Given the description of an element on the screen output the (x, y) to click on. 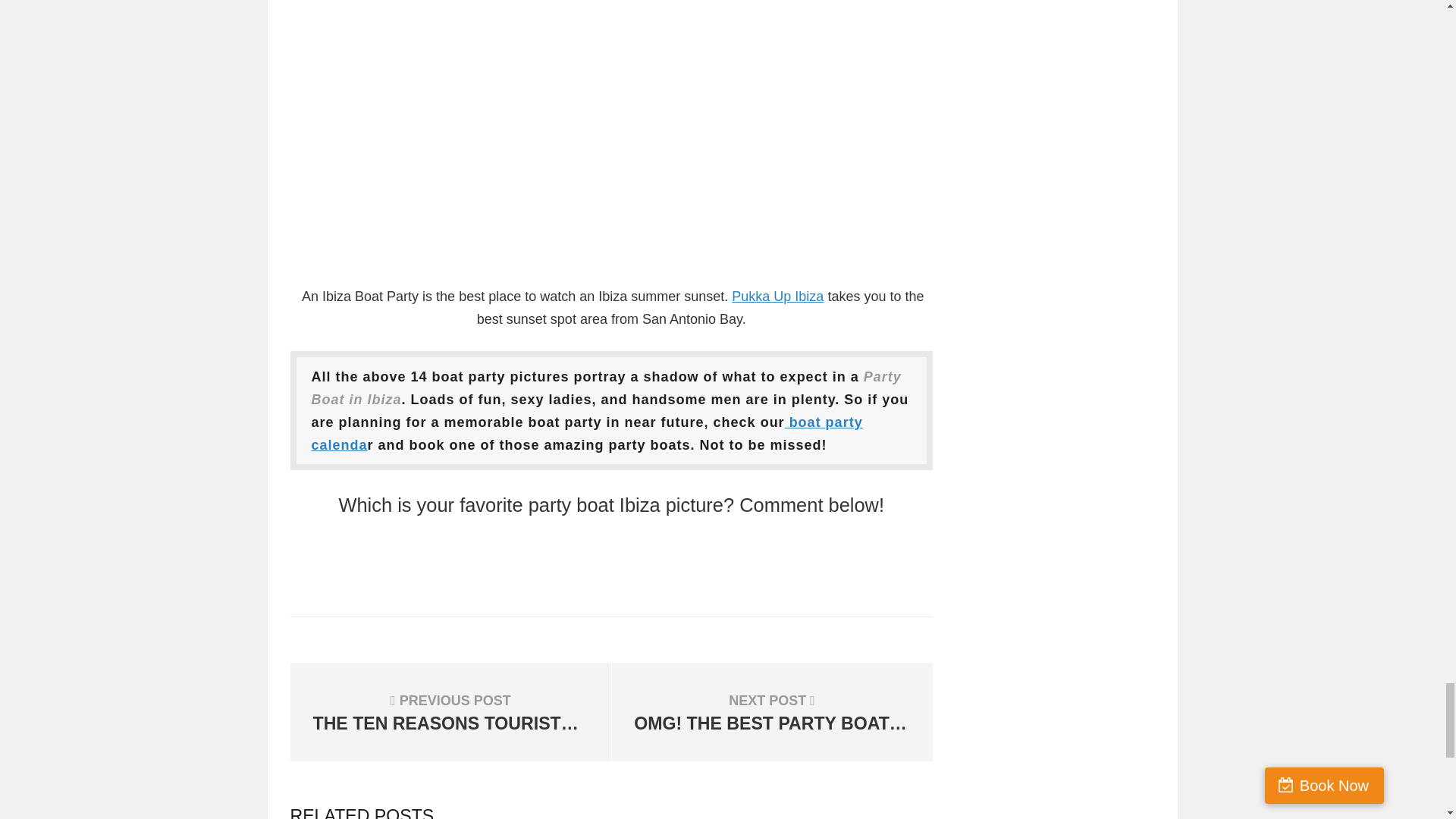
Pukka Up Ibiza (772, 711)
boat party calenda (778, 296)
